Given the description of an element on the screen output the (x, y) to click on. 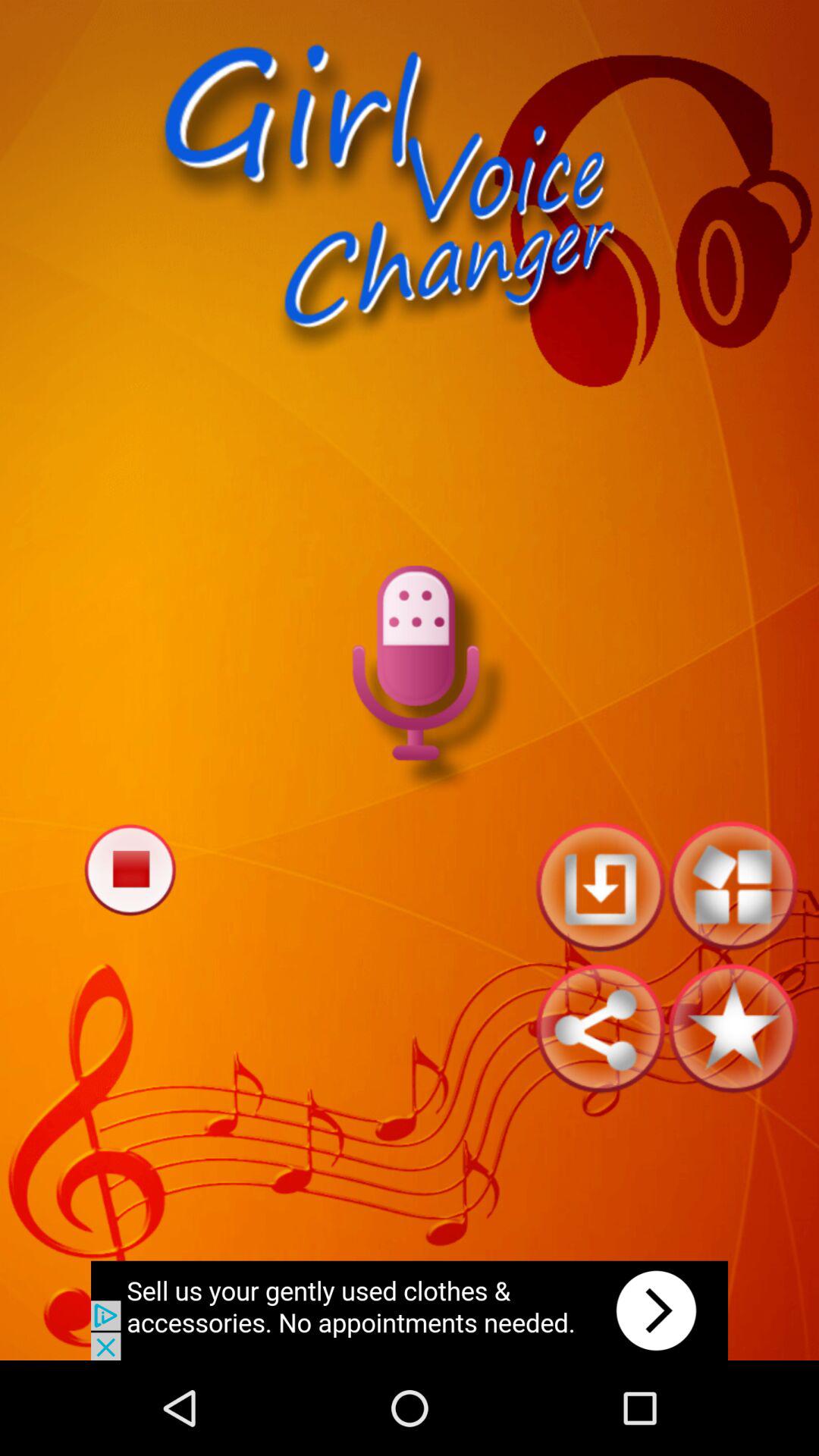
view options menu (732, 885)
